Given the description of an element on the screen output the (x, y) to click on. 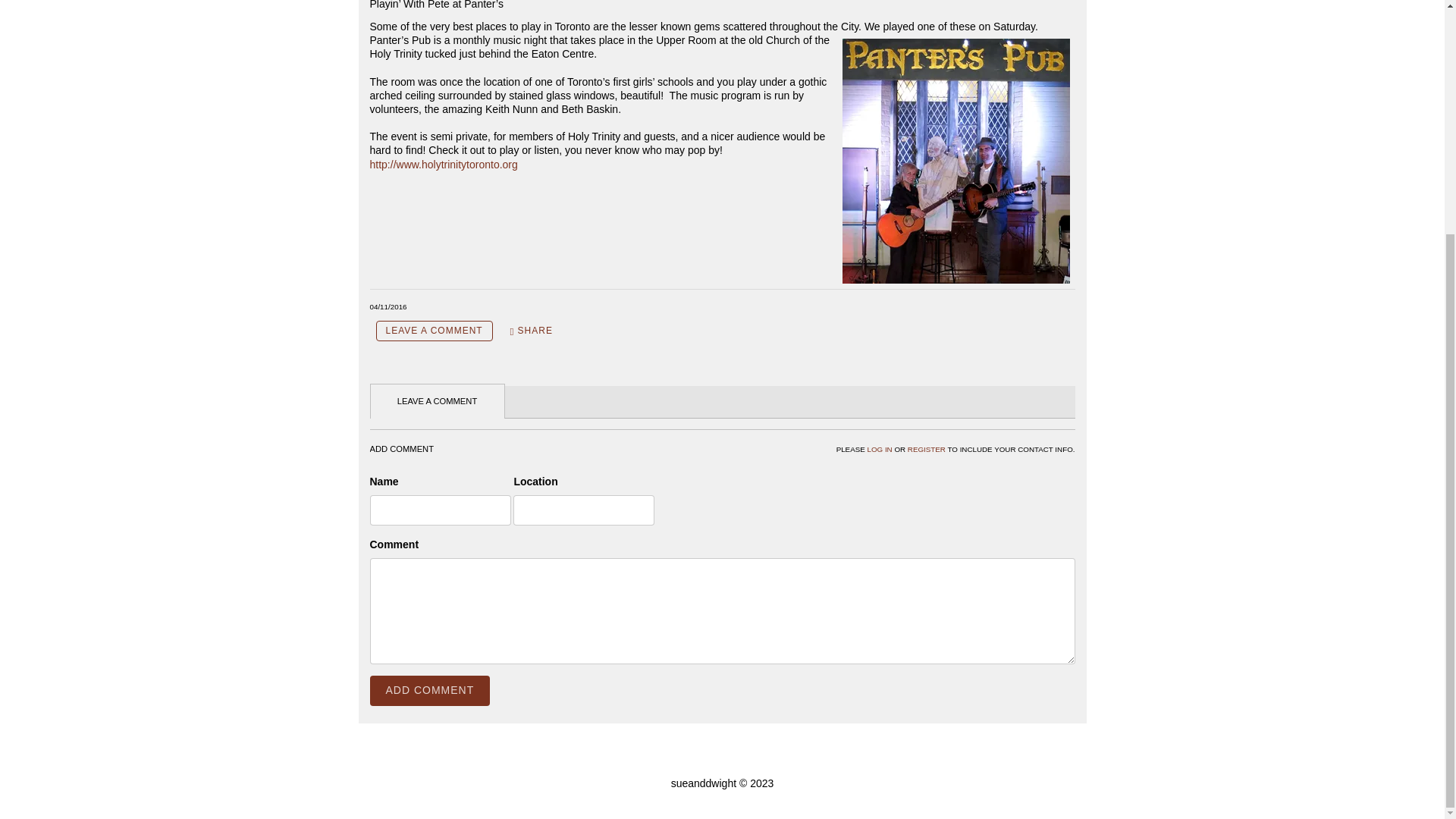
Leave a comment (434, 331)
April 11, 2016 17:30 (388, 306)
LEAVE A COMMENT (434, 331)
